Given the description of an element on the screen output the (x, y) to click on. 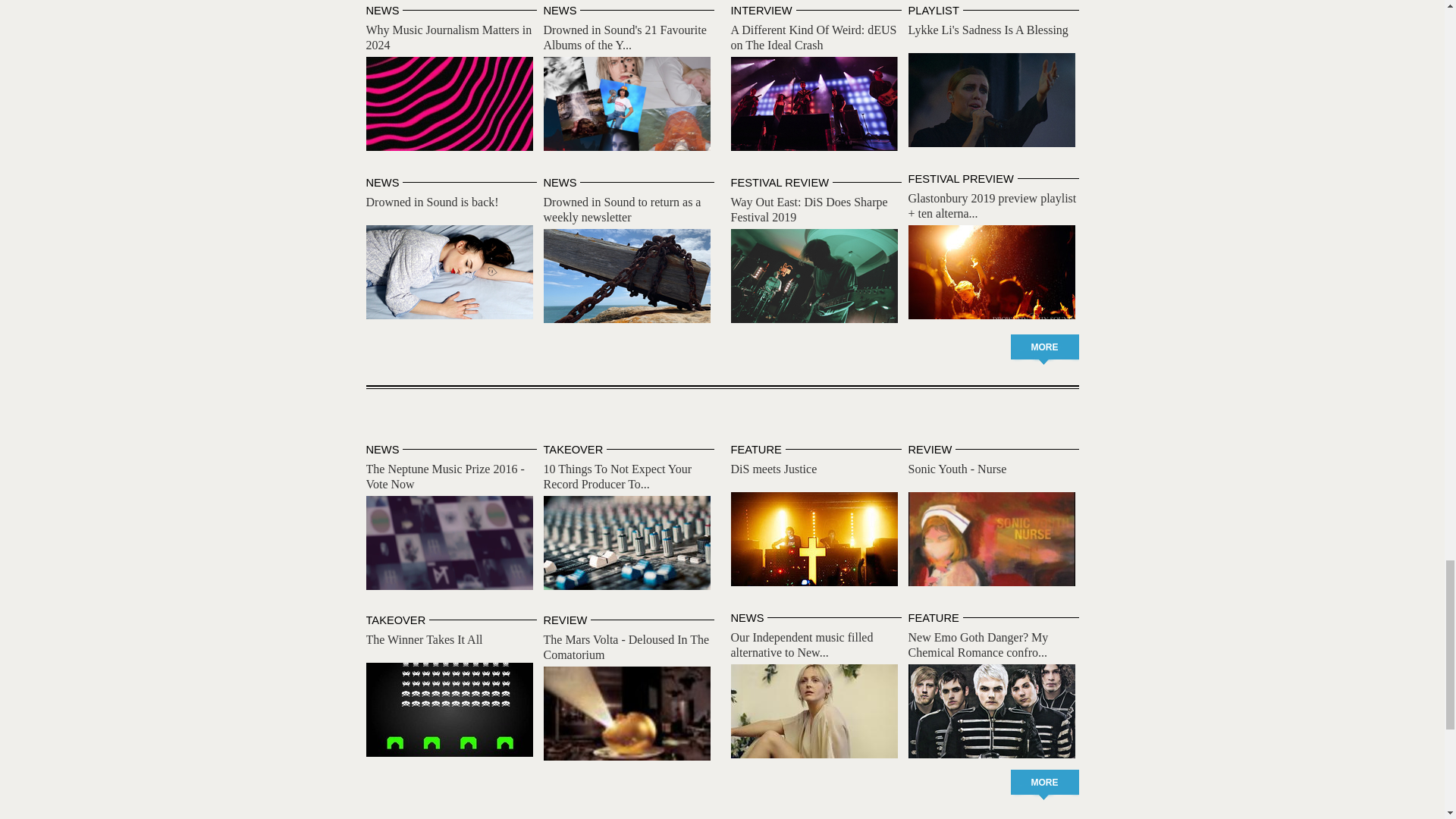
The Winner Takes It All (448, 709)
Drowned in Sound's 21 Favourite Albums of the Year: 2020 (626, 103)
Why Music Journalism Matters in 2024 (448, 37)
Drowned in Sound is back! (448, 272)
Sonic Youth - Nurse (991, 539)
Why Music Journalism Matters in 2024 (448, 103)
Lykke Li's Sadness Is A Blessing (991, 100)
DiS meets Justice (814, 539)
The Neptune Music Prize 2016 - Vote Now (448, 542)
